Given the description of an element on the screen output the (x, y) to click on. 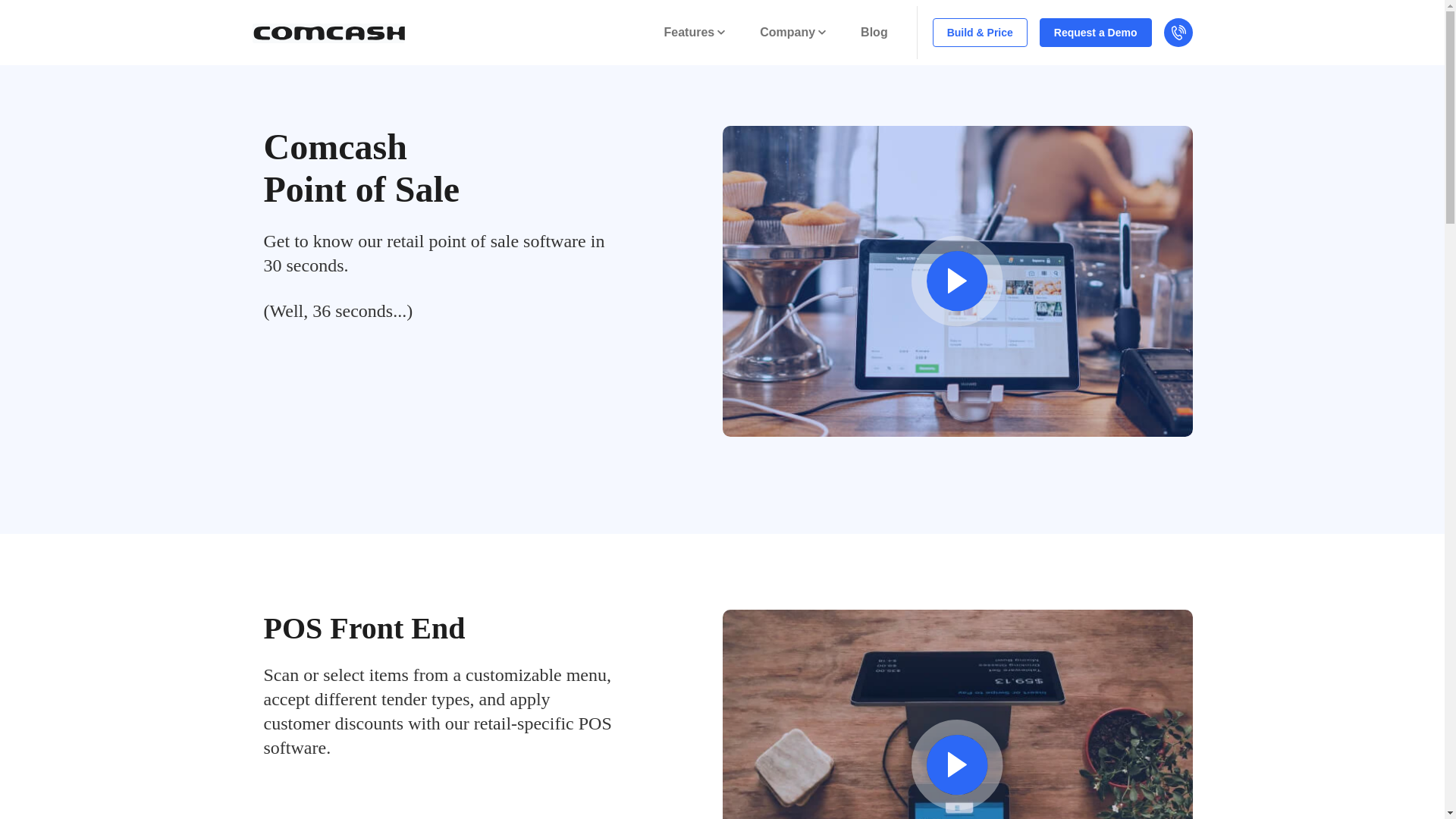
Features (695, 31)
Request a Demo (1095, 32)
Company (792, 31)
Request a Demo (1095, 32)
